Given the description of an element on the screen output the (x, y) to click on. 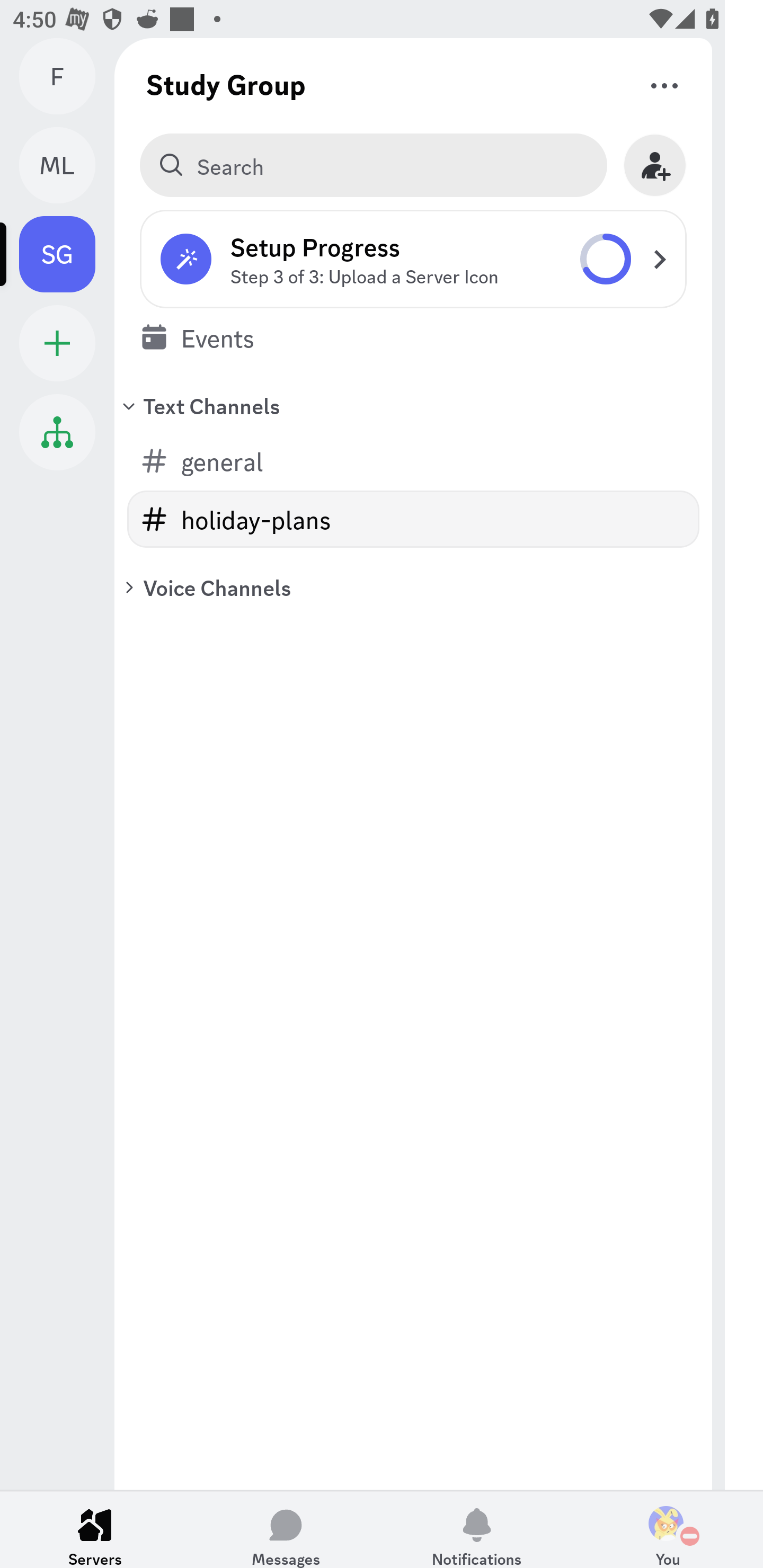
  Friends F (66, 75)
Study Group (226, 83)
  Music Lovers ML (66, 165)
Search (373, 165)
Invite (654, 165)
  Study Group SG (66, 253)
Add a Server (57, 343)
Events (413, 336)
Text Channels (412, 404)
Student Hub (57, 431)
general (text channel) general (413, 460)
holiday-plans (text channel) holiday-plans (413, 518)
Voice Channels (412, 586)
Servers (95, 1529)
Messages (285, 1529)
Notifications (476, 1529)
You (667, 1529)
